Given the description of an element on the screen output the (x, y) to click on. 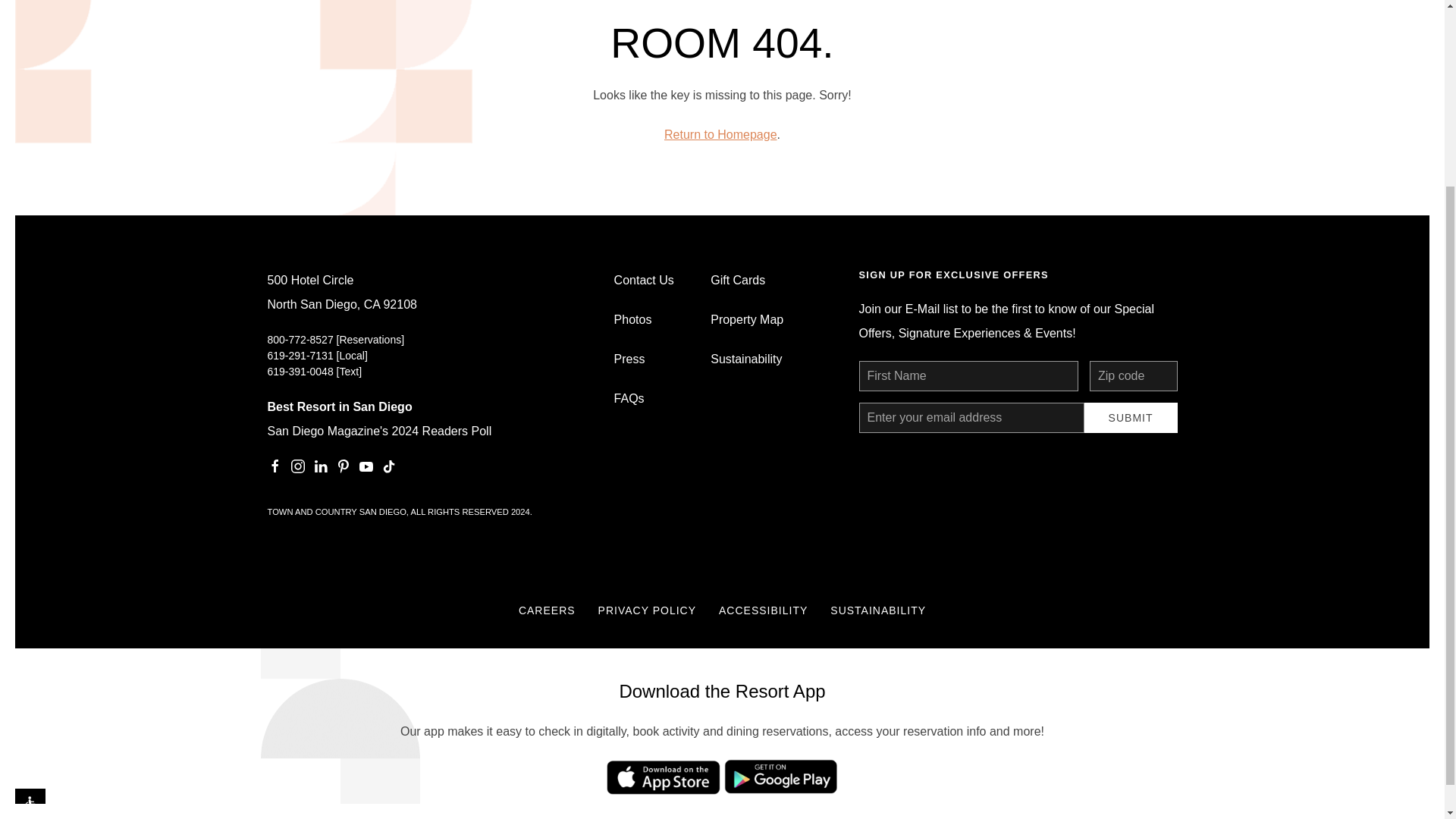
First Name (968, 376)
Email Address (971, 417)
Return to Homepage (720, 133)
zip (1133, 376)
